Given the description of an element on the screen output the (x, y) to click on. 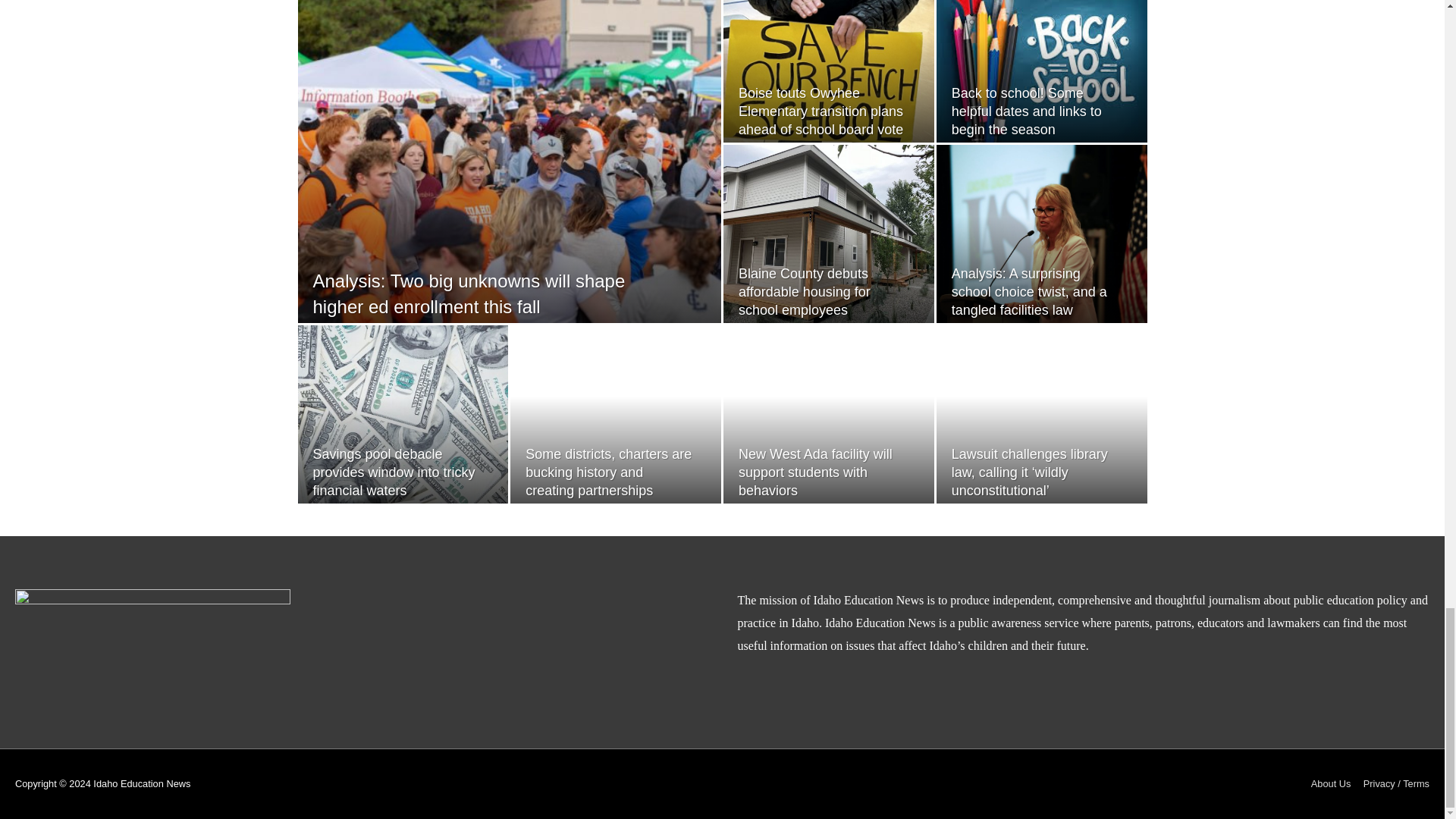
New West Ada facility will support students with behaviors (815, 471)
Blaine County debuts affordable housing for school employees (804, 291)
